Given the description of an element on the screen output the (x, y) to click on. 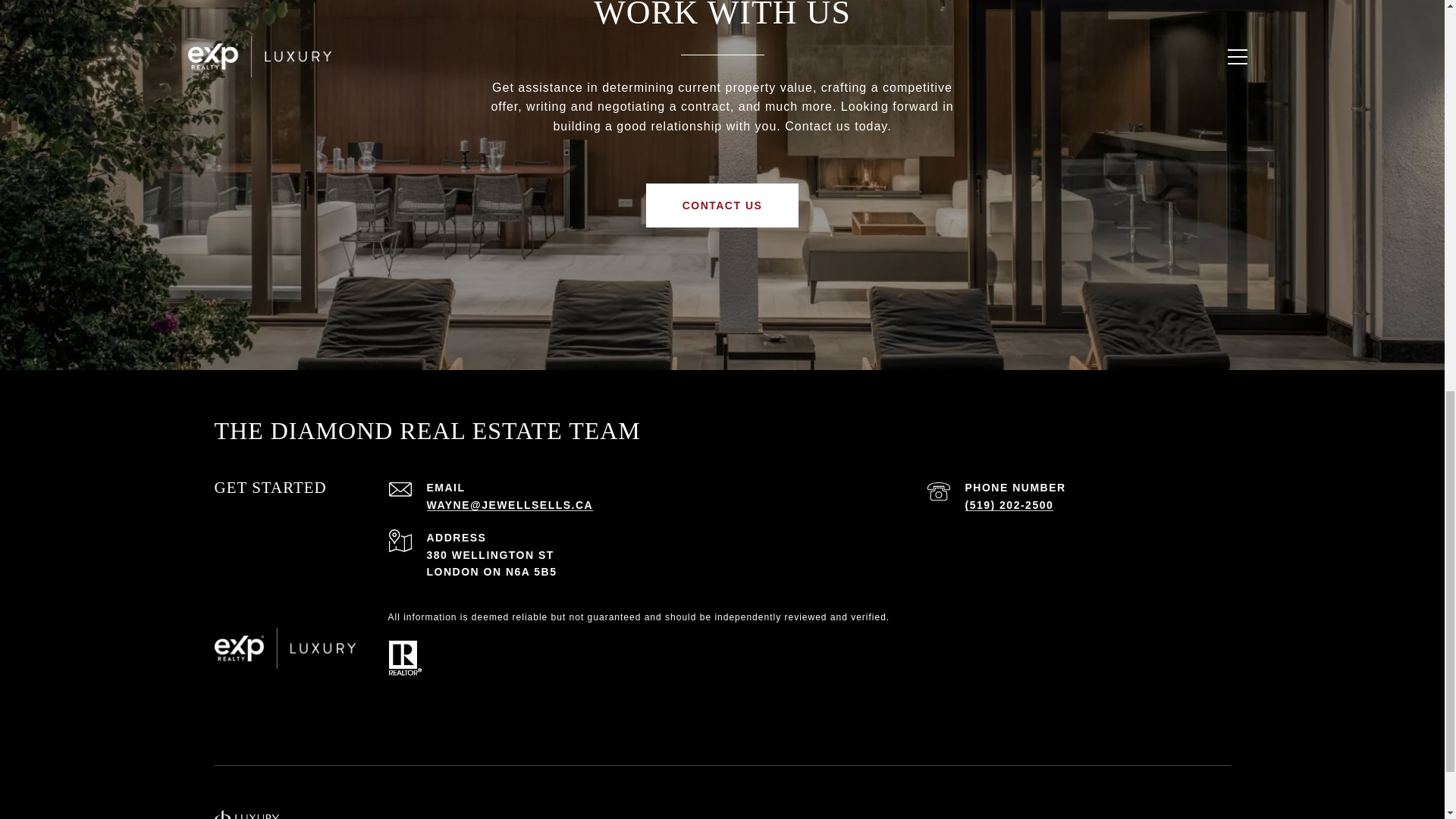
Privacy Policy (871, 817)
Luxury Presence (576, 817)
CONTACT US (722, 205)
